Given the description of an element on the screen output the (x, y) to click on. 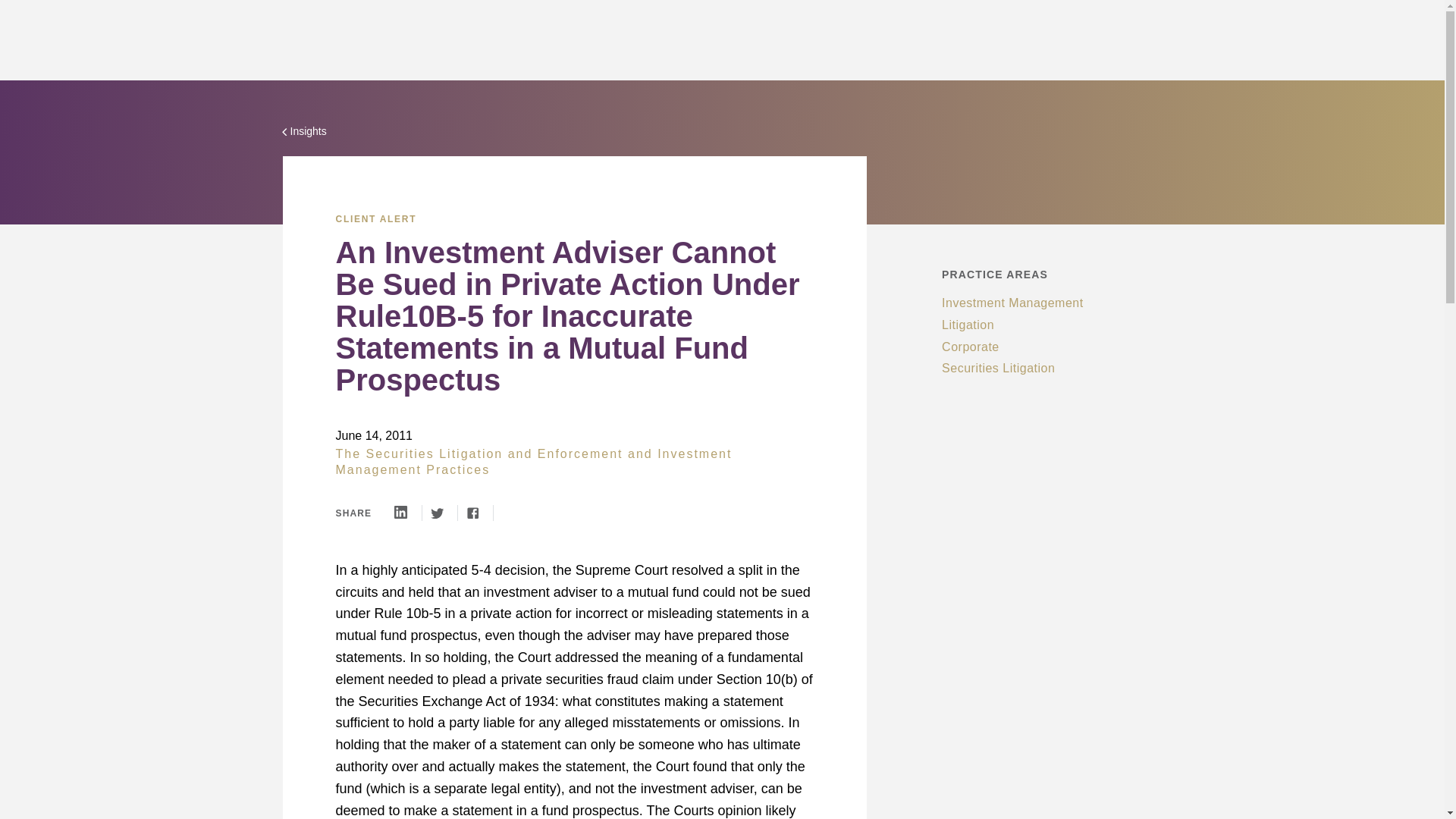
Investment Management (1012, 302)
Corporate (970, 346)
Securities Litigation (998, 367)
Litigation (968, 324)
